Given the description of an element on the screen output the (x, y) to click on. 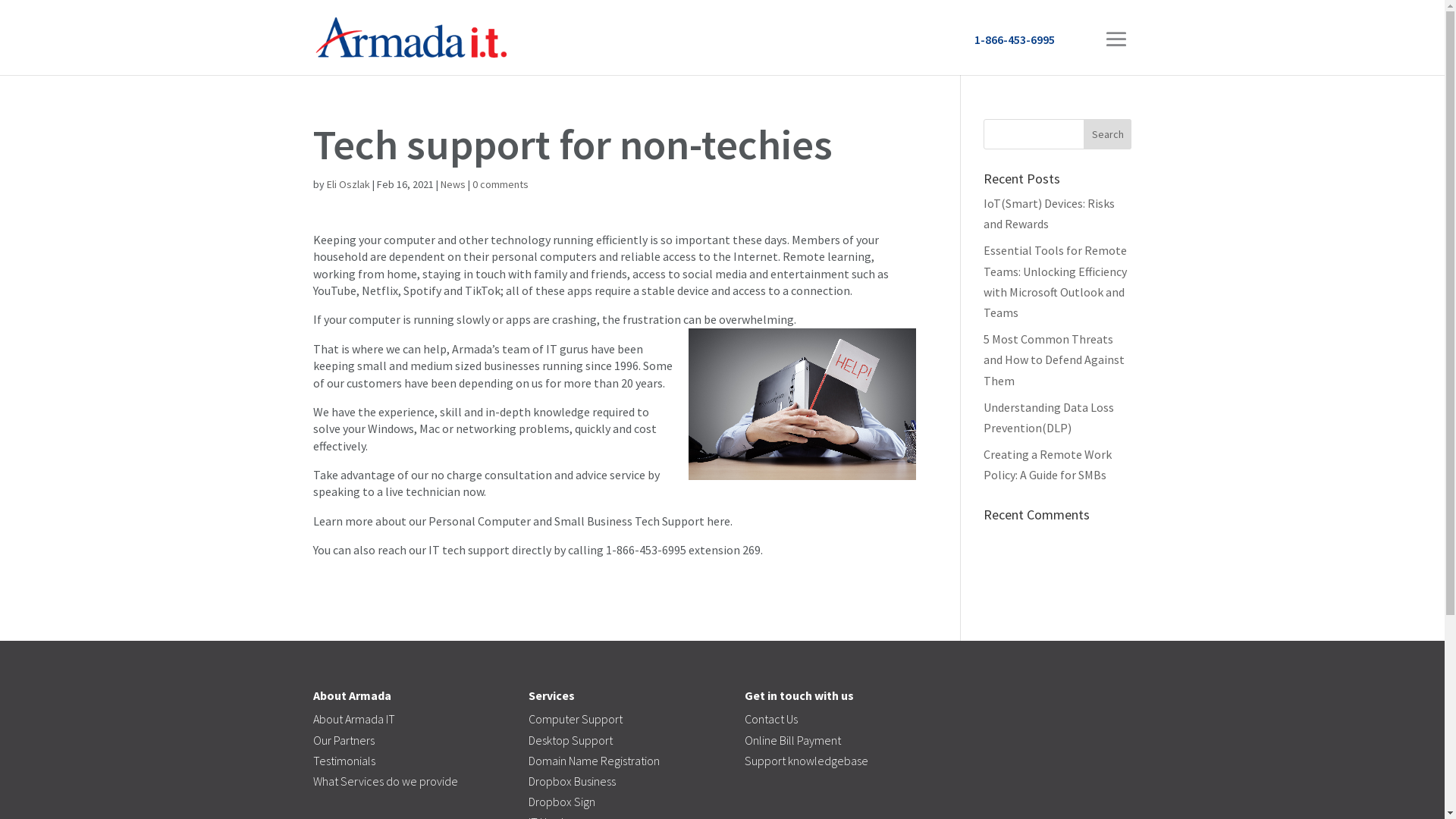
Domain Name Registration Element type: text (593, 760)
Our Partners Element type: text (342, 739)
Eli Oszlak Element type: text (347, 184)
Online Bill Payment Element type: text (792, 739)
Dropbox Sign Element type: text (561, 801)
0 comments Element type: text (499, 184)
About Armada IT Element type: text (353, 718)
Testimonials Element type: text (343, 760)
What Services do we provide Element type: text (384, 780)
Creating a Remote Work Policy: A Guide for SMBs Element type: text (1047, 464)
Understanding Data Loss Prevention(DLP) Element type: text (1048, 417)
Desktop Support Element type: text (570, 739)
5 Most Common Threats and How to Defend Against Them Element type: text (1053, 359)
Computer Support Element type: text (575, 718)
News Element type: text (451, 184)
Dropbox Business Element type: text (571, 780)
IoT(Smart) Devices: Risks and Rewards Element type: text (1048, 213)
Search Element type: text (1107, 134)
1-866-453-6995 Element type: text (1013, 39)
Support knowledgebase Element type: text (806, 760)
Contact Us Element type: text (770, 718)
